Given the description of an element on the screen output the (x, y) to click on. 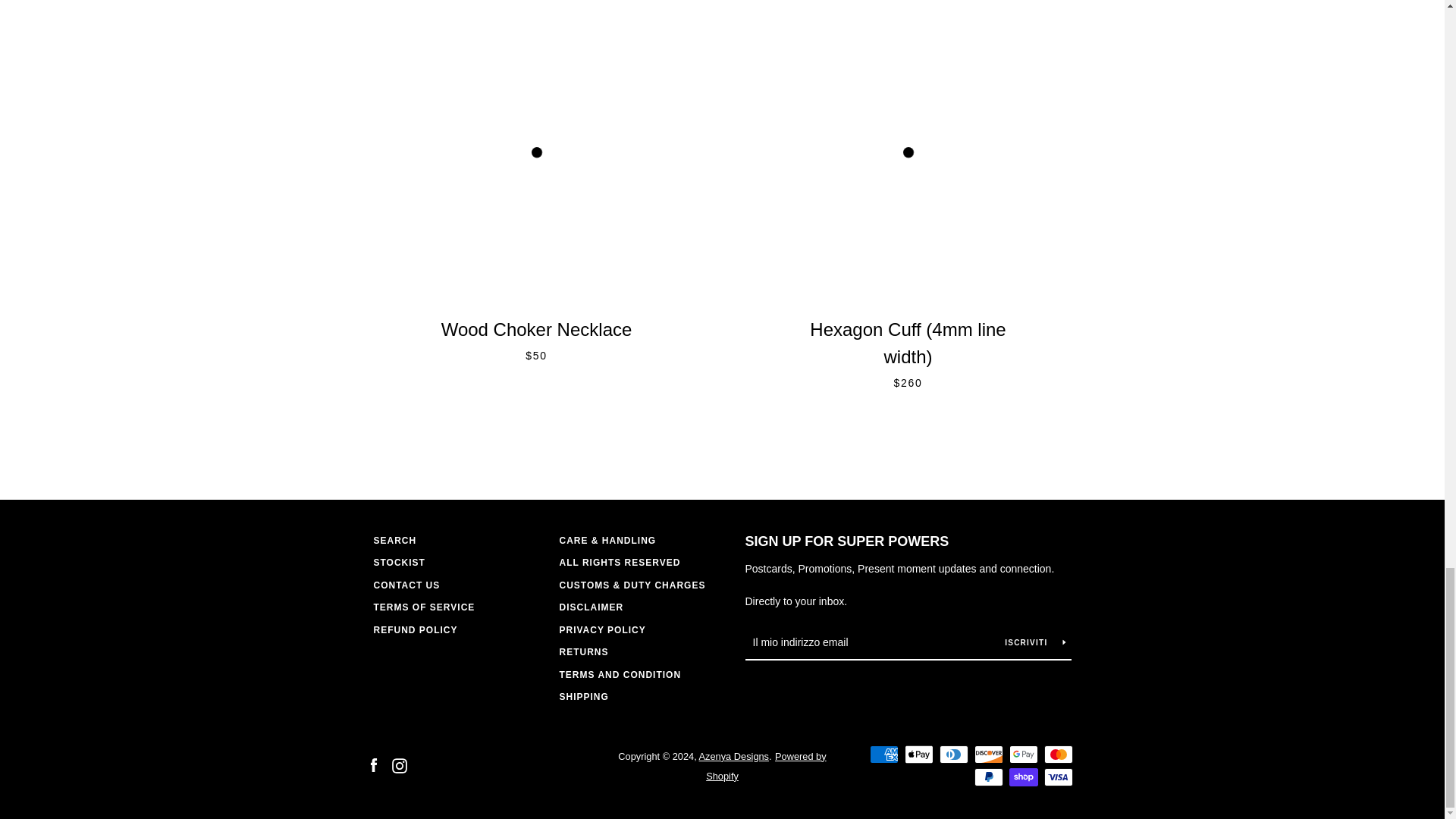
Google Pay (1022, 754)
Azenya Designs su Instagram (399, 765)
American Express (883, 754)
Visa (1057, 777)
Azenya Designs su Facebook (372, 765)
Discover (988, 754)
Shop Pay (1022, 777)
Apple Pay (918, 754)
Diners Club (953, 754)
Mastercard (1057, 754)
